Given the description of an element on the screen output the (x, y) to click on. 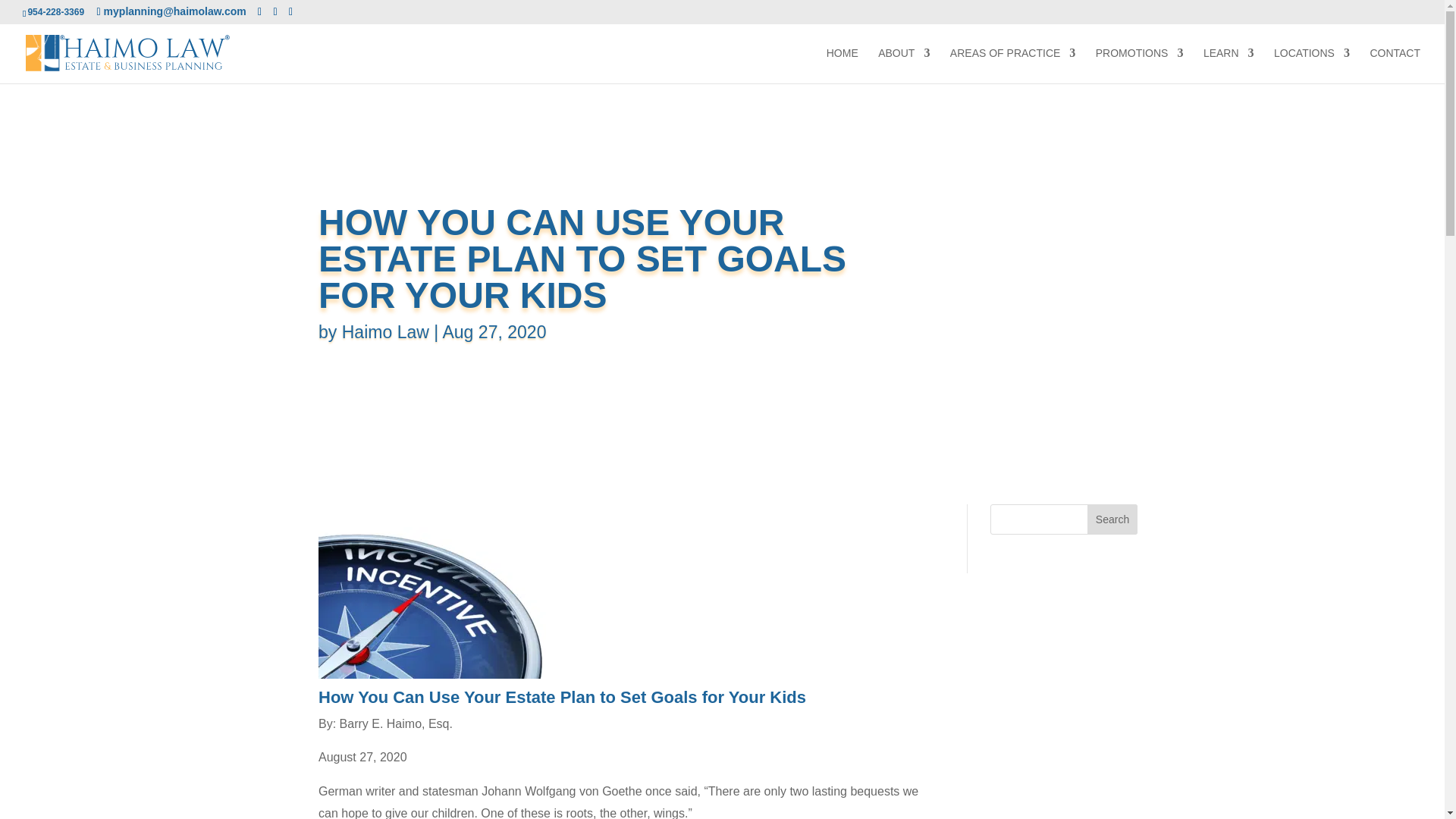
Posts by Haimo Law (385, 332)
HOME (843, 65)
LEARN (1228, 65)
ABOUT (903, 65)
Search (1112, 519)
AREAS OF PRACTICE (1012, 65)
PROMOTIONS (1139, 65)
